Given the description of an element on the screen output the (x, y) to click on. 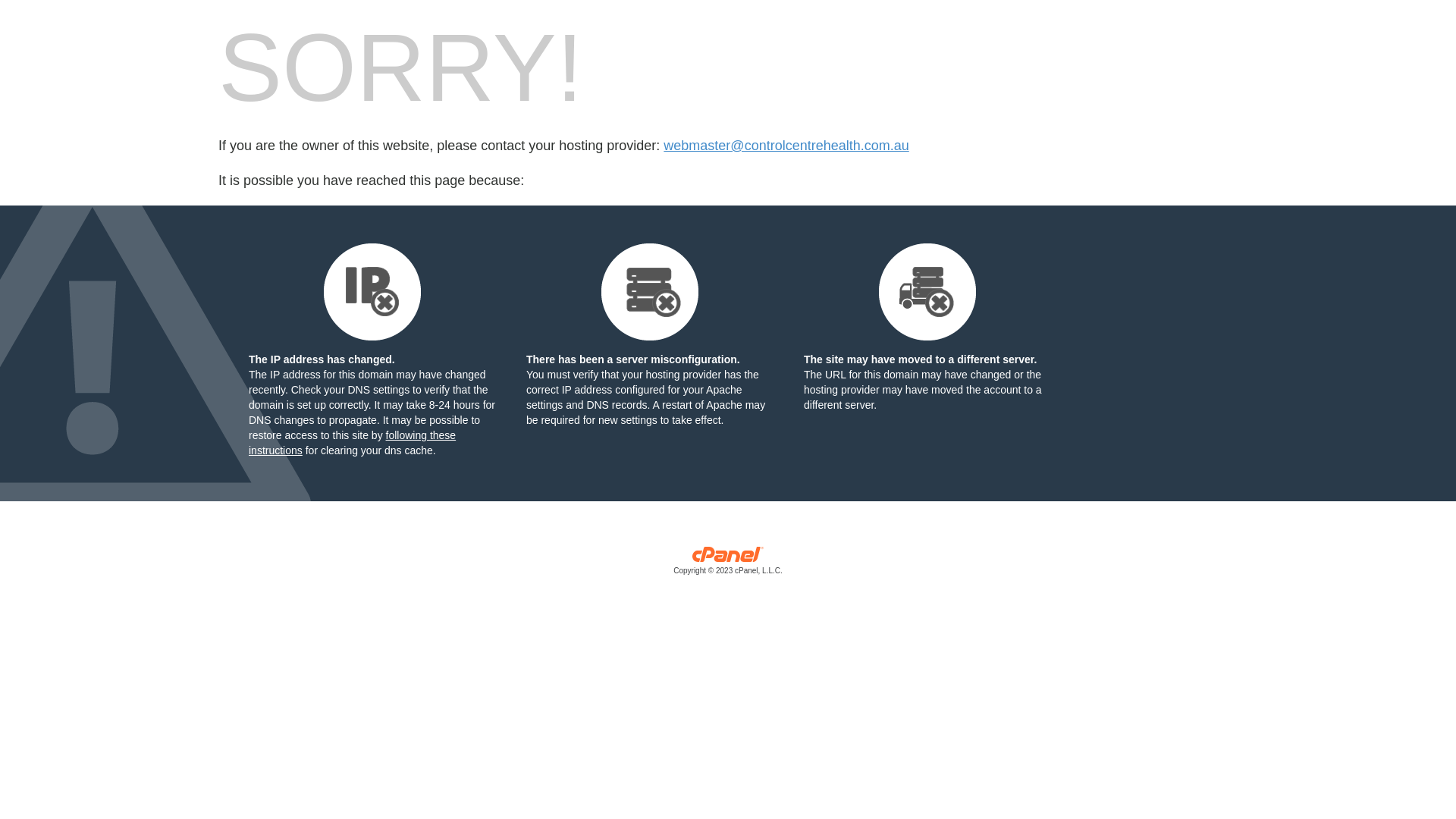
following these instructions Element type: text (351, 442)
webmaster@controlcentrehealth.com.au Element type: text (785, 145)
